Given the description of an element on the screen output the (x, y) to click on. 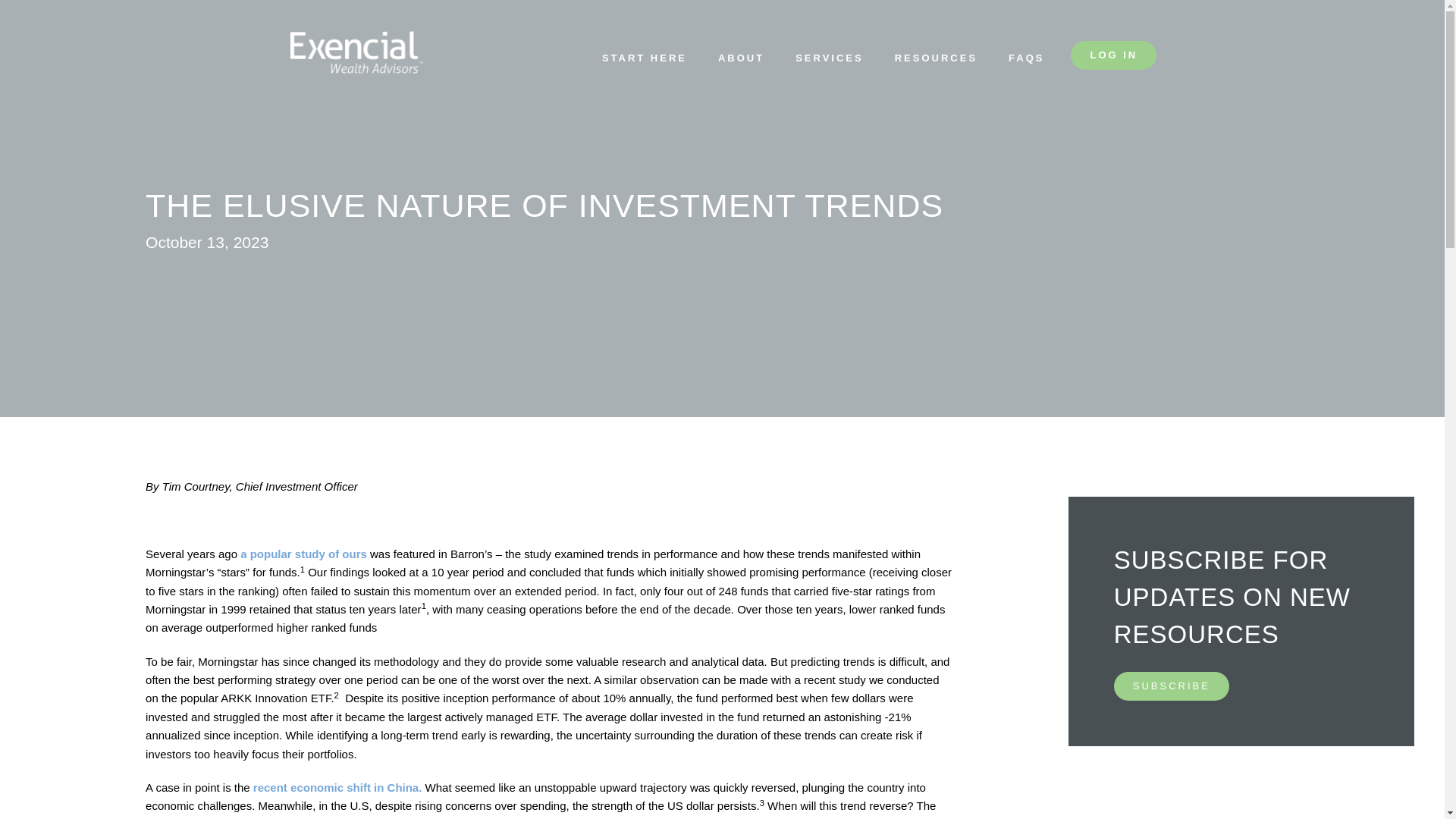
FAQS (1026, 60)
ABOUT (740, 60)
SERVICES (828, 60)
LOG IN (1113, 54)
START HERE (644, 60)
RESOURCES (935, 60)
